Given the description of an element on the screen output the (x, y) to click on. 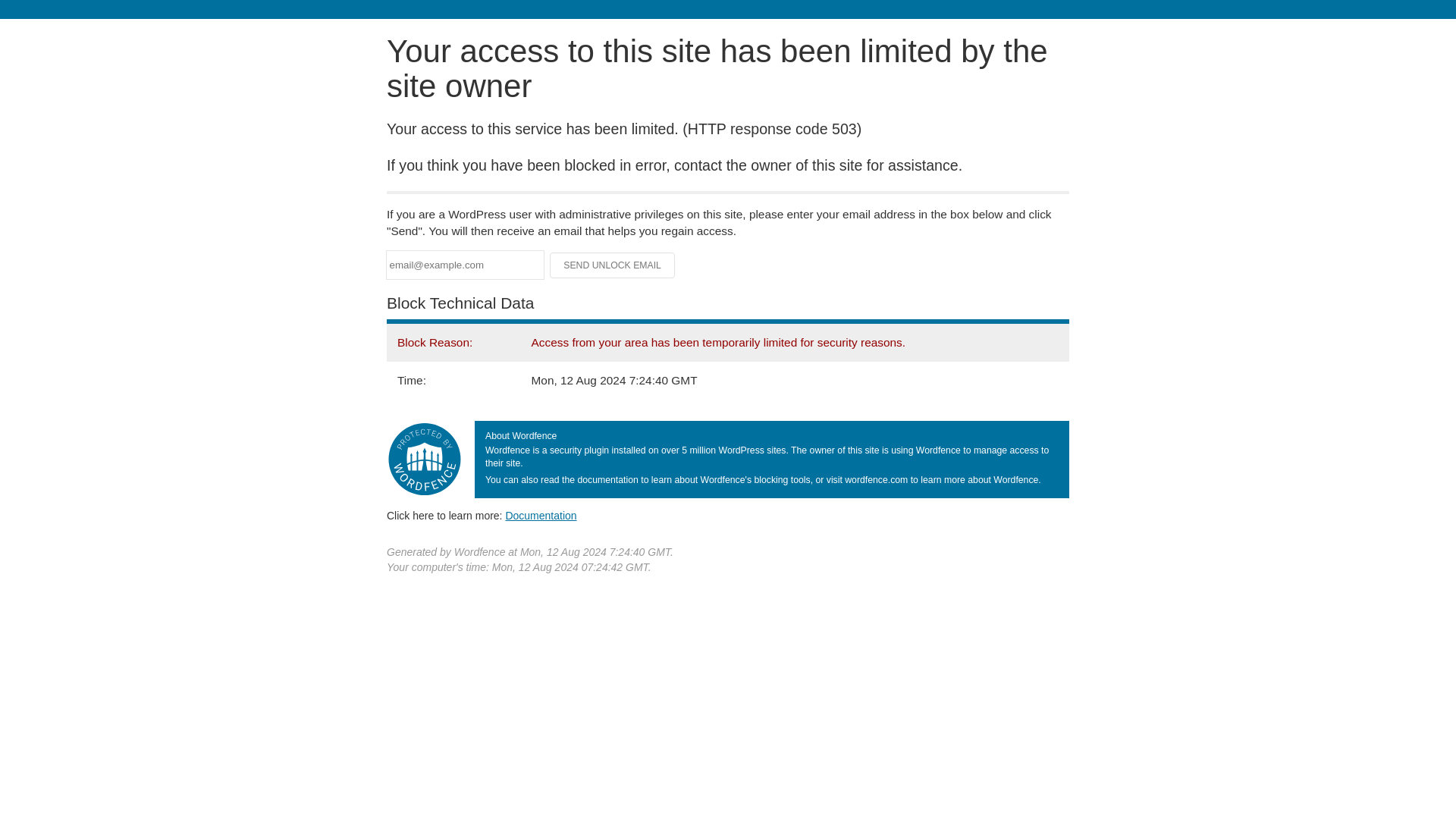
Send Unlock Email (612, 265)
Send Unlock Email (612, 265)
Documentation (540, 515)
